Given the description of an element on the screen output the (x, y) to click on. 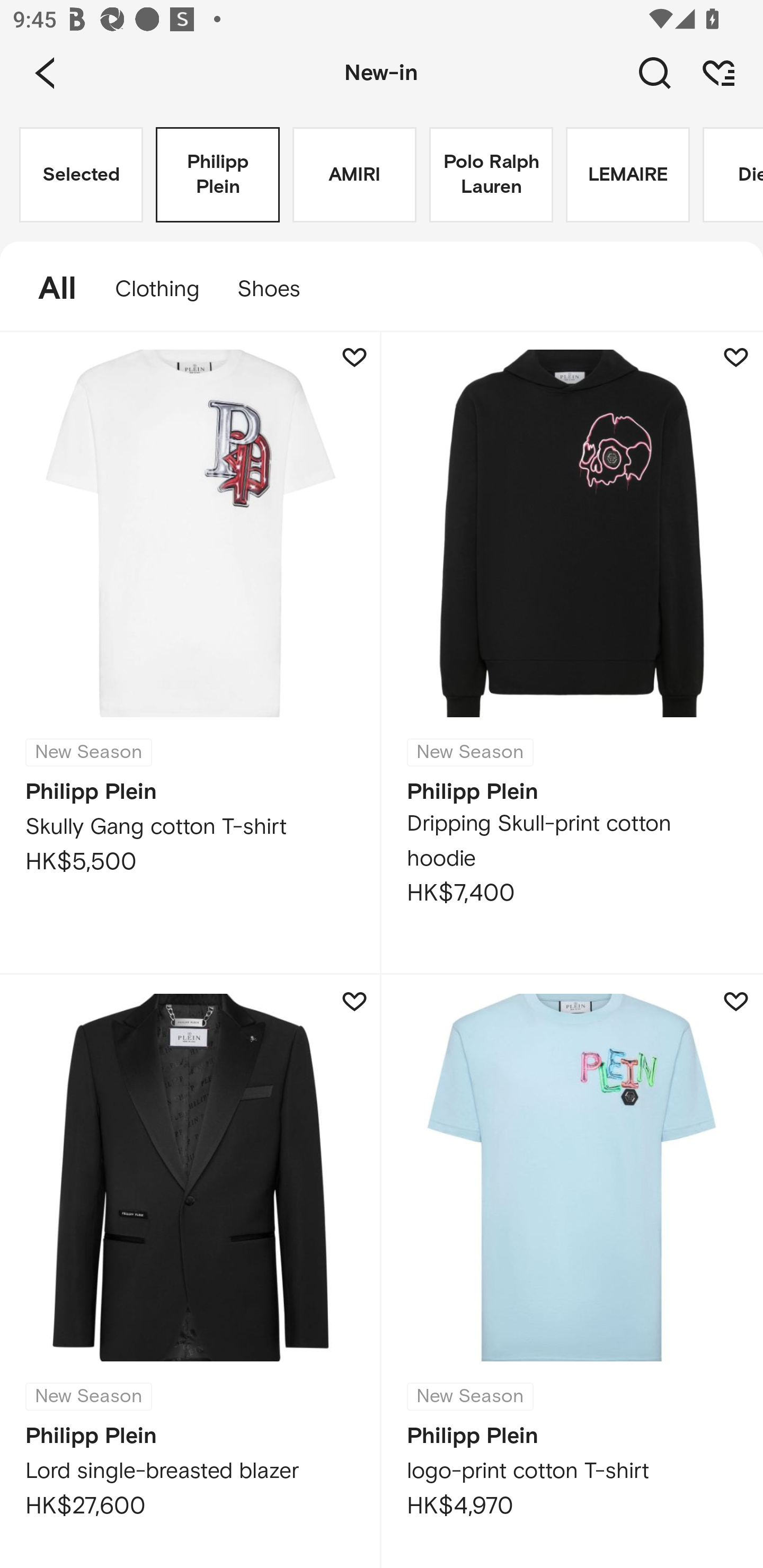
Selected (81, 174)
Philipp Plein (217, 174)
AMIRI (354, 174)
Polo Ralph Lauren (490, 174)
LEMAIRE (627, 174)
All (47, 288)
Clothing (156, 288)
Shoes (278, 288)
